Given the description of an element on the screen output the (x, y) to click on. 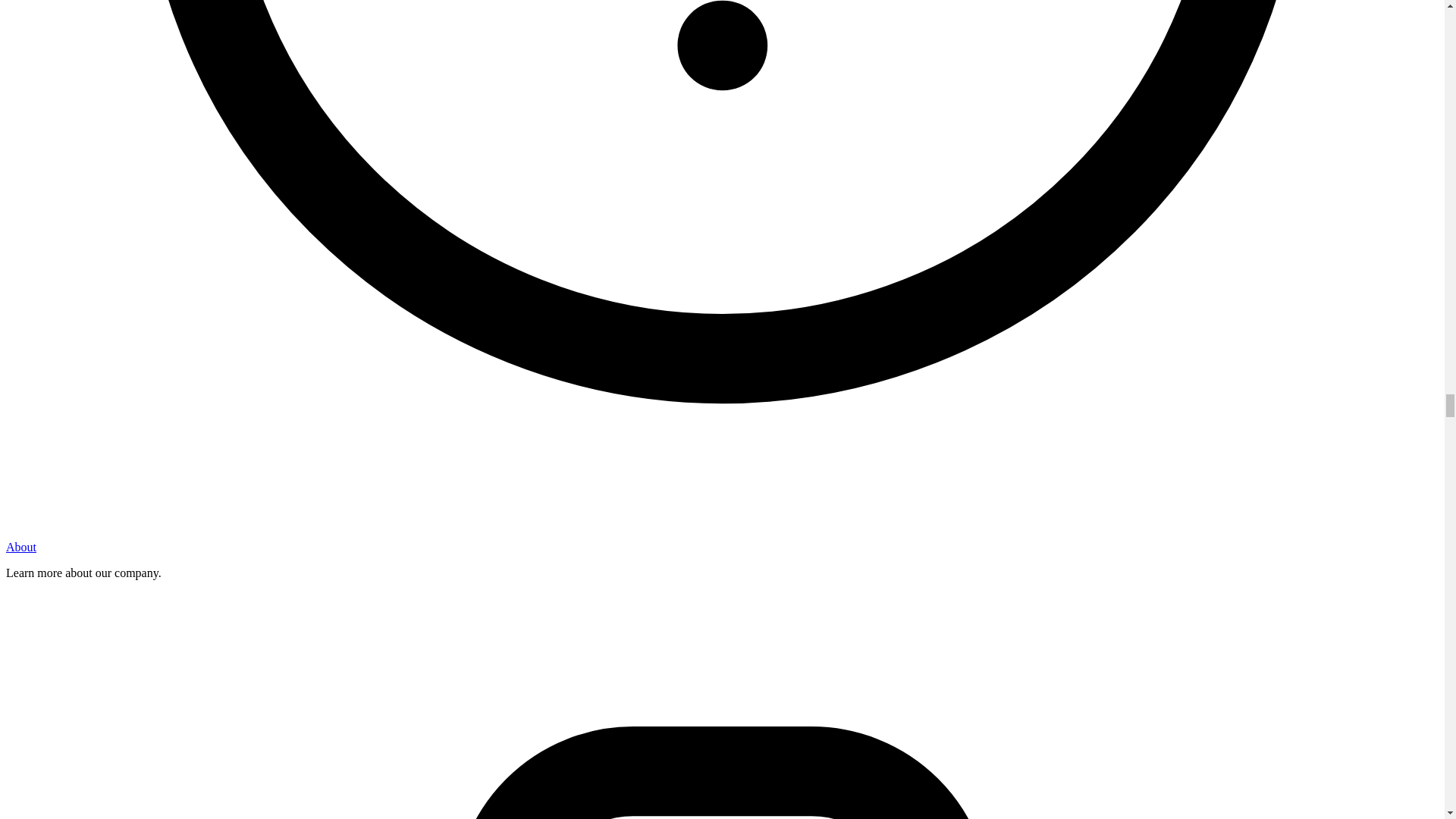
About (20, 546)
About (20, 546)
